Given the description of an element on the screen output the (x, y) to click on. 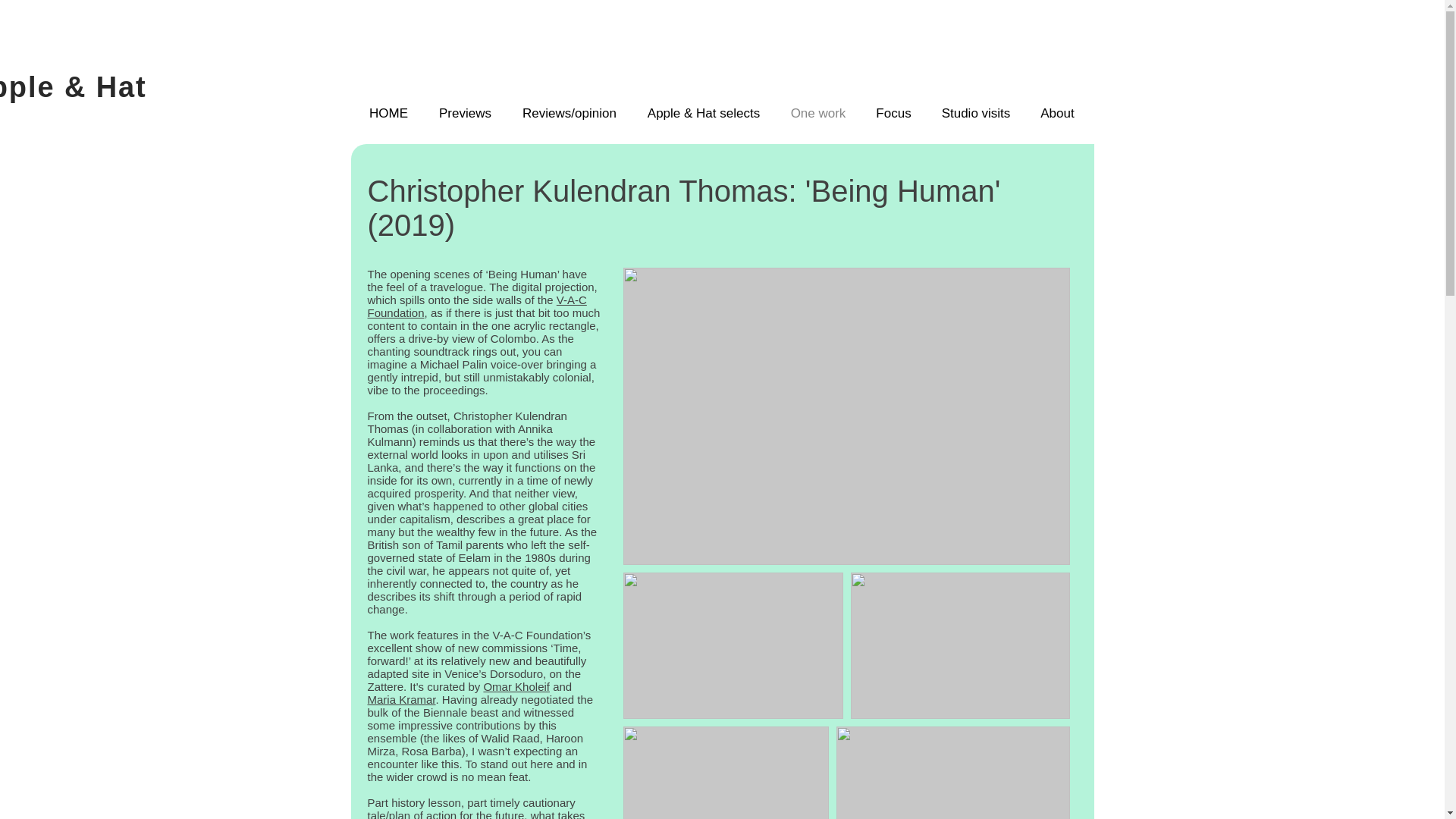
HOME (388, 113)
Omar Kholeif (516, 686)
About (1057, 113)
One work (817, 113)
Maria Kramar (400, 698)
Previews (464, 113)
Focus (893, 113)
V-A-C Foundation (476, 306)
Studio visits (976, 113)
